Given the description of an element on the screen output the (x, y) to click on. 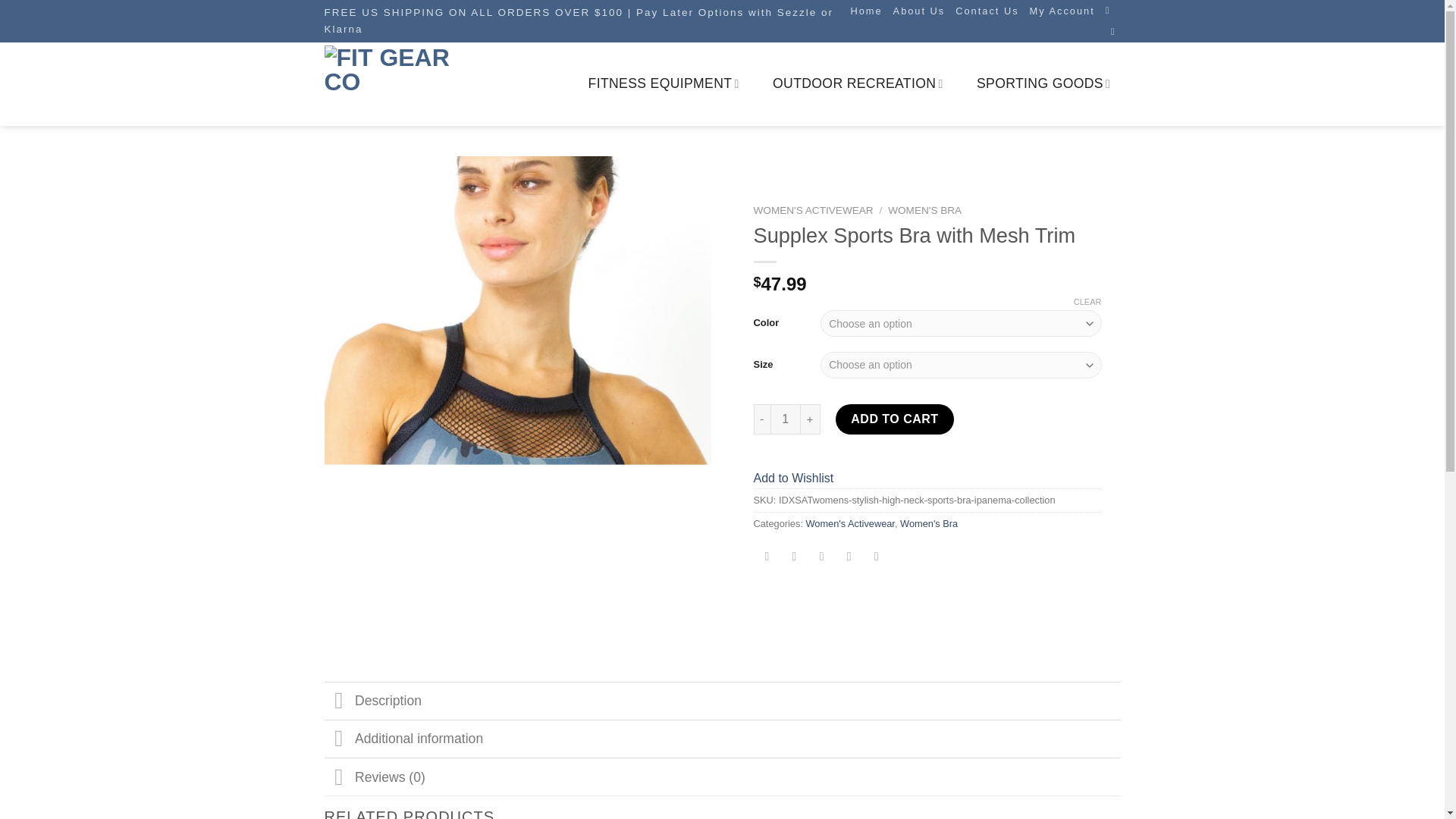
Home (866, 11)
Qty (784, 419)
Pin on Pinterest (848, 557)
Contact Us (986, 11)
1 (784, 419)
SPORTING GOODS (1043, 83)
My Account (1061, 11)
Share on Facebook (766, 557)
Email to a Friend (821, 557)
About Us (918, 11)
FITNESS EQUIPMENT (663, 83)
Share on Twitter (793, 557)
OUTDOOR RECREATION (857, 83)
Share on LinkedIn (875, 557)
